Given the description of an element on the screen output the (x, y) to click on. 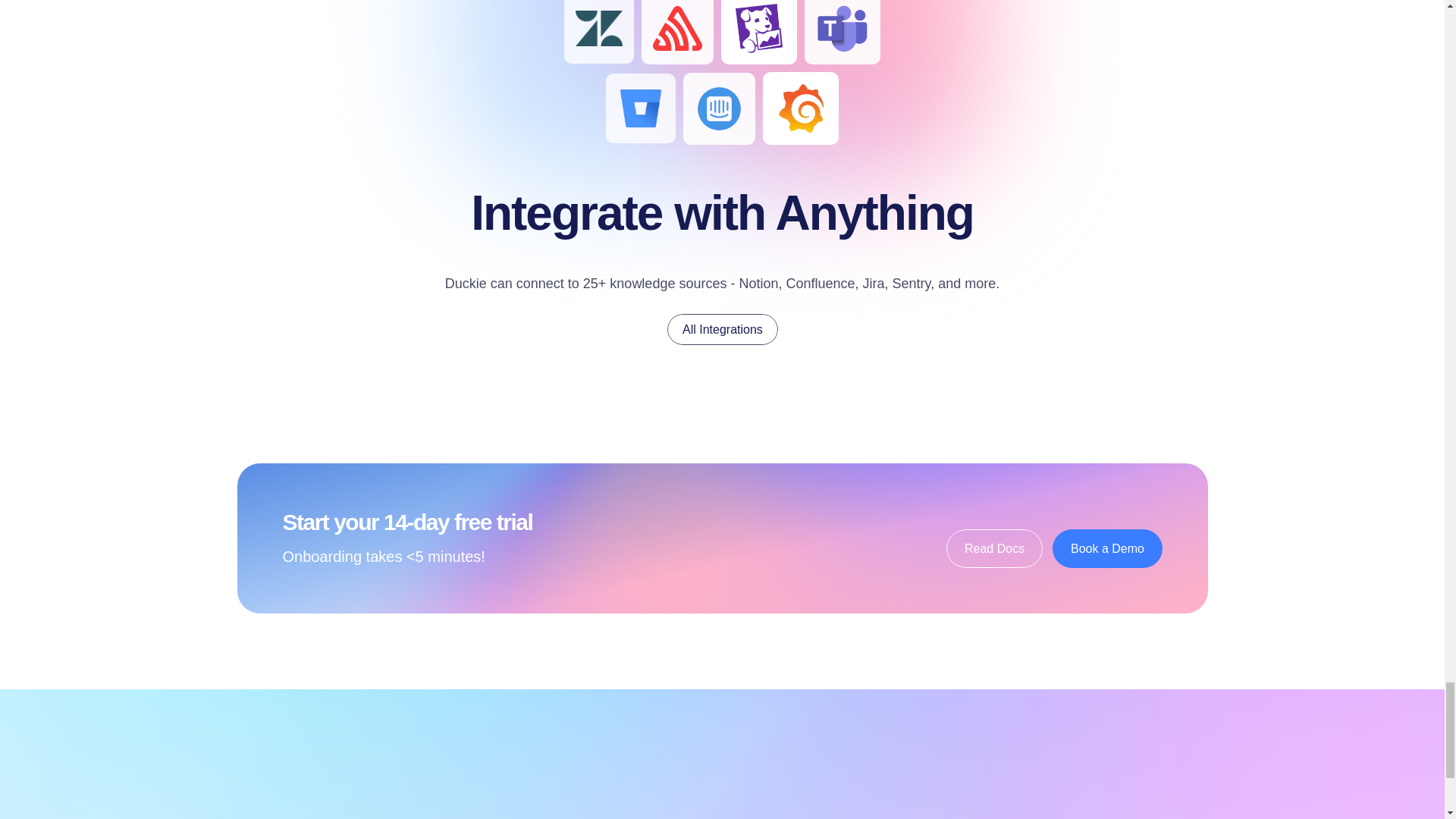
Read Docs (994, 548)
All Integrations (721, 328)
Book a Demo (1106, 548)
